Given the description of an element on the screen output the (x, y) to click on. 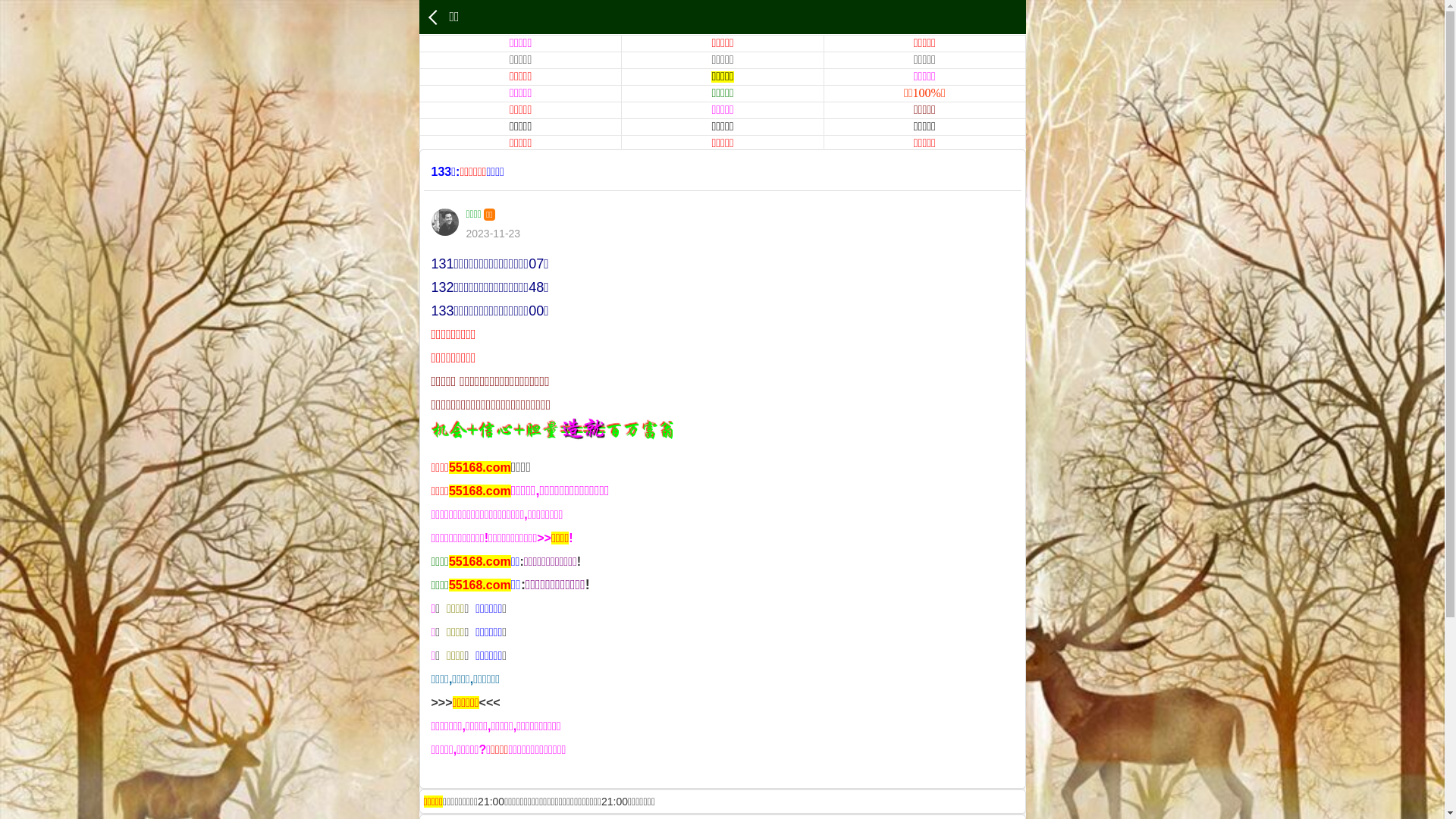
55168.com Element type: text (479, 584)
55168.com Element type: text (479, 467)
55168.com Element type: text (479, 561)
55168.com Element type: text (479, 490)
